Given the description of an element on the screen output the (x, y) to click on. 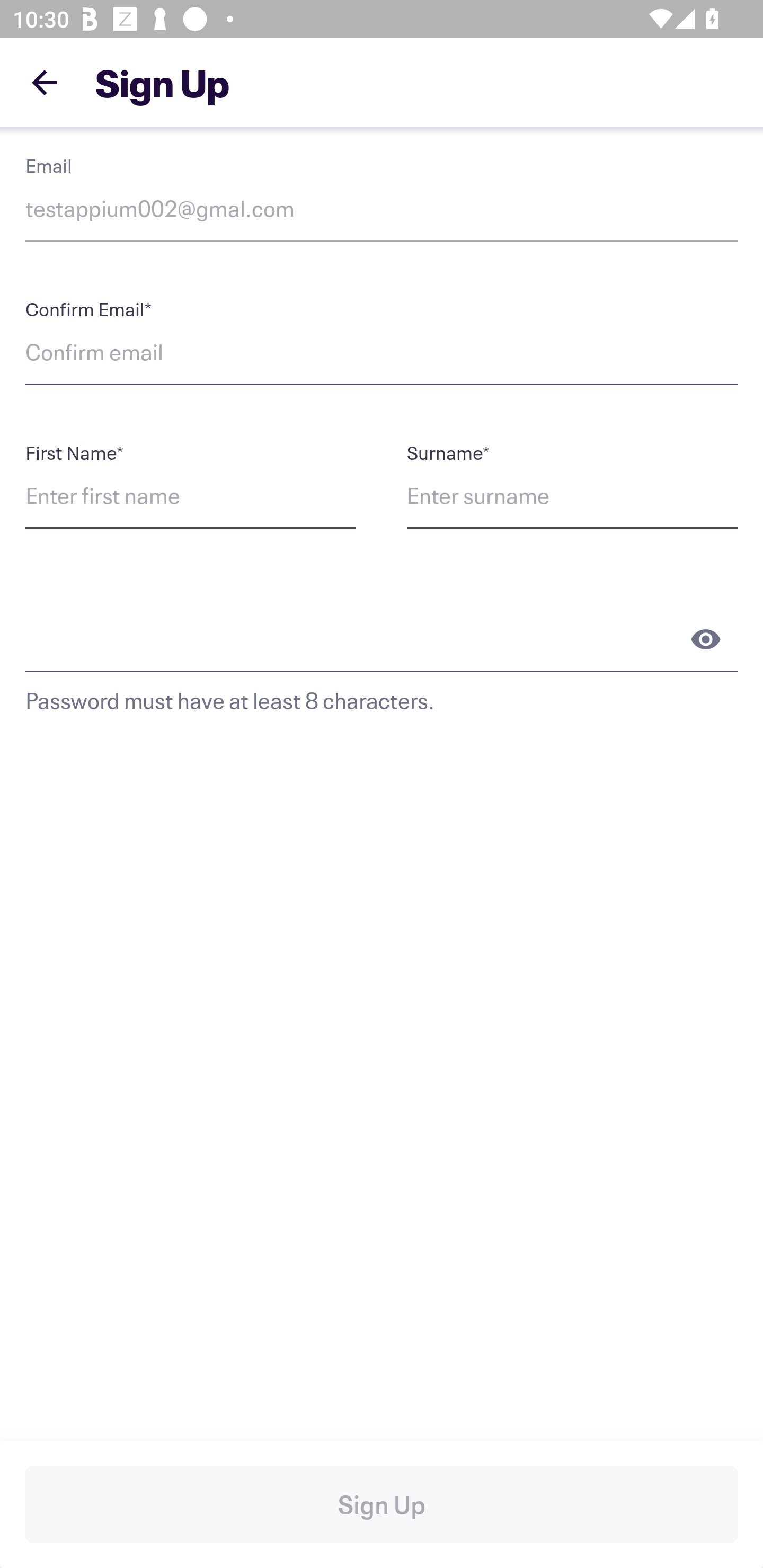
Navigate up (44, 82)
testappium002@gmal.com (381, 211)
Confirm email (381, 354)
Enter first name (203, 498)
Enter surname (559, 498)
Sign Up (381, 1504)
